Given the description of an element on the screen output the (x, y) to click on. 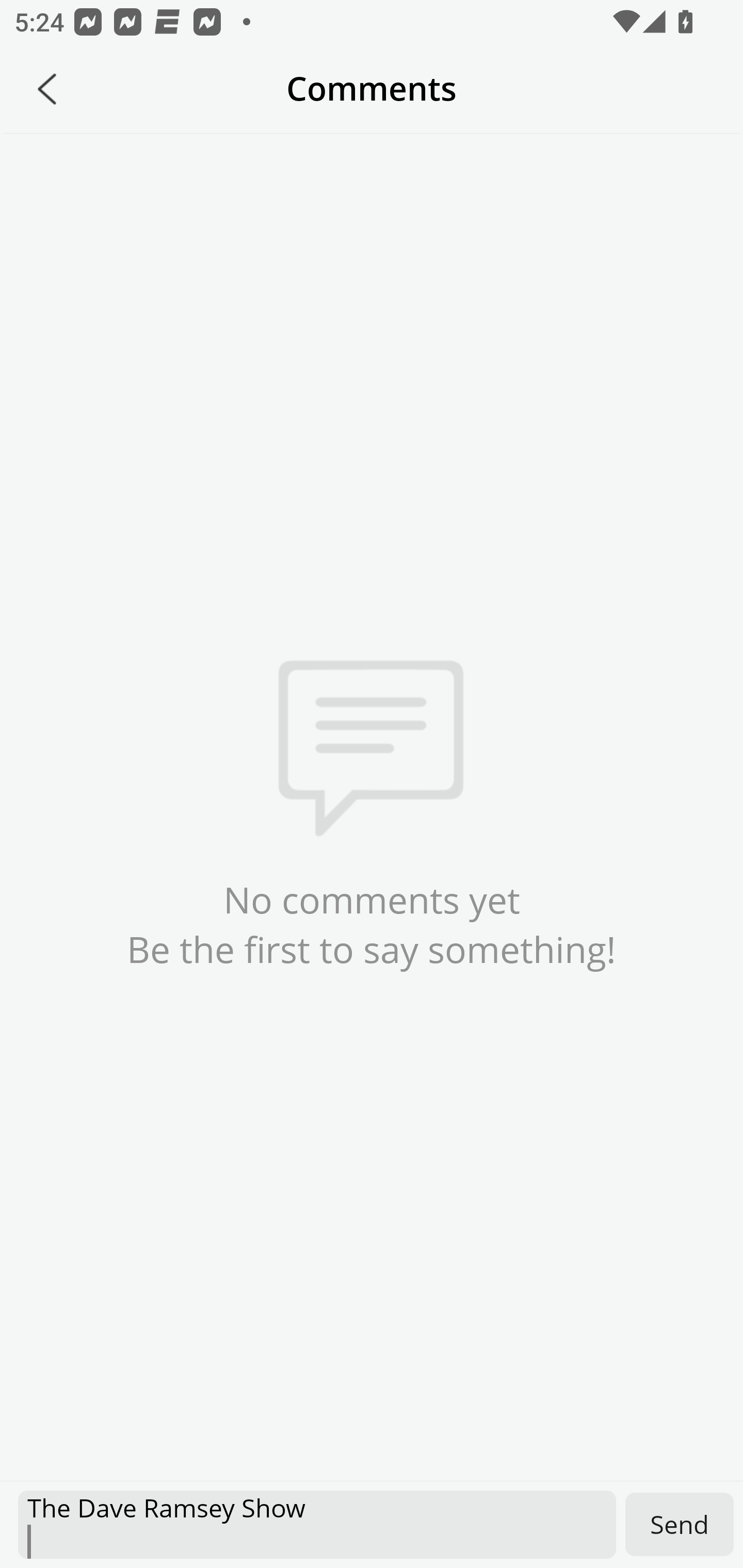
Back (46, 88)
The Dave Ramsey Show
 (316, 1524)
Send (679, 1523)
